Given the description of an element on the screen output the (x, y) to click on. 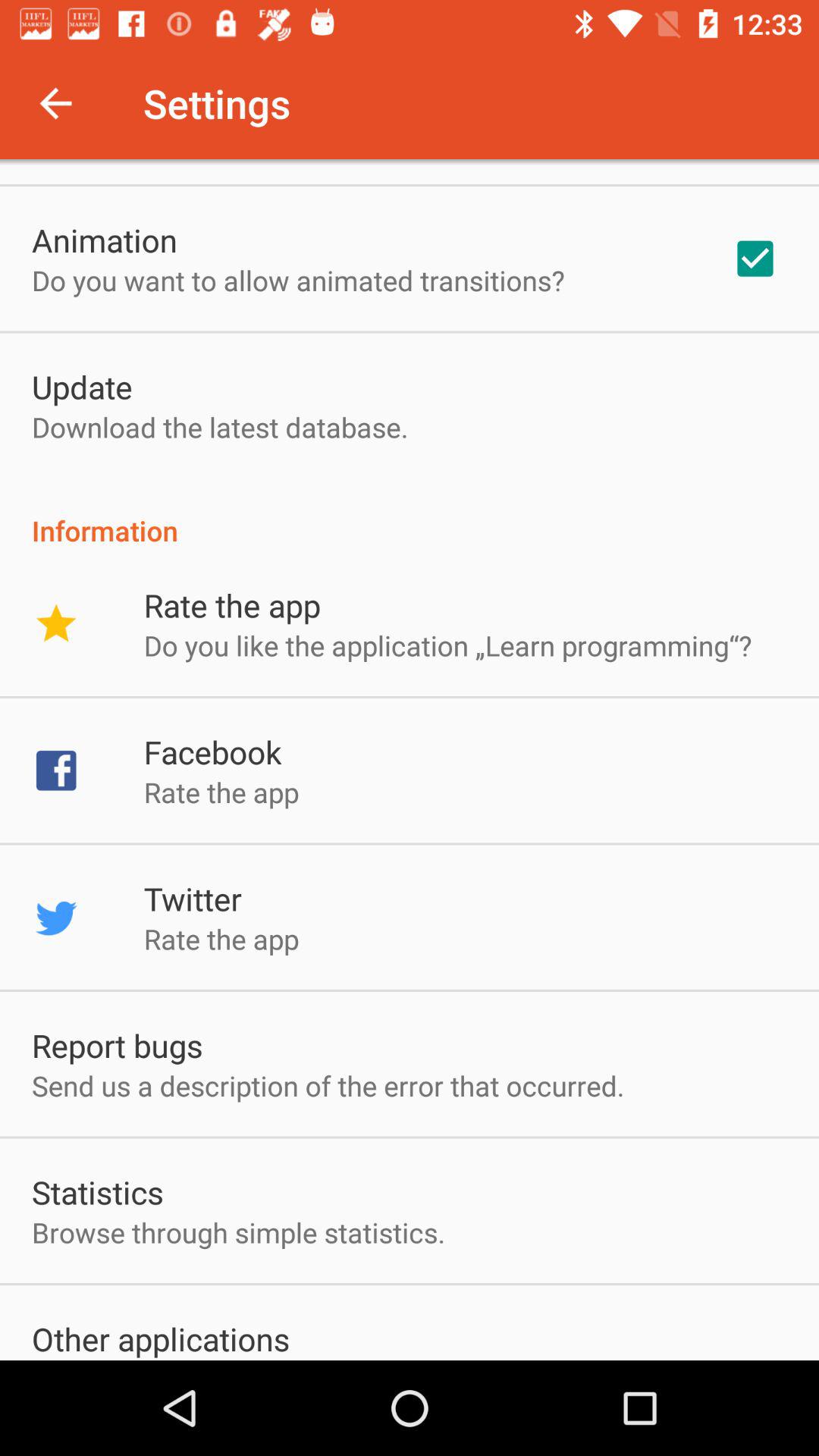
press the facebook app (212, 751)
